Given the description of an element on the screen output the (x, y) to click on. 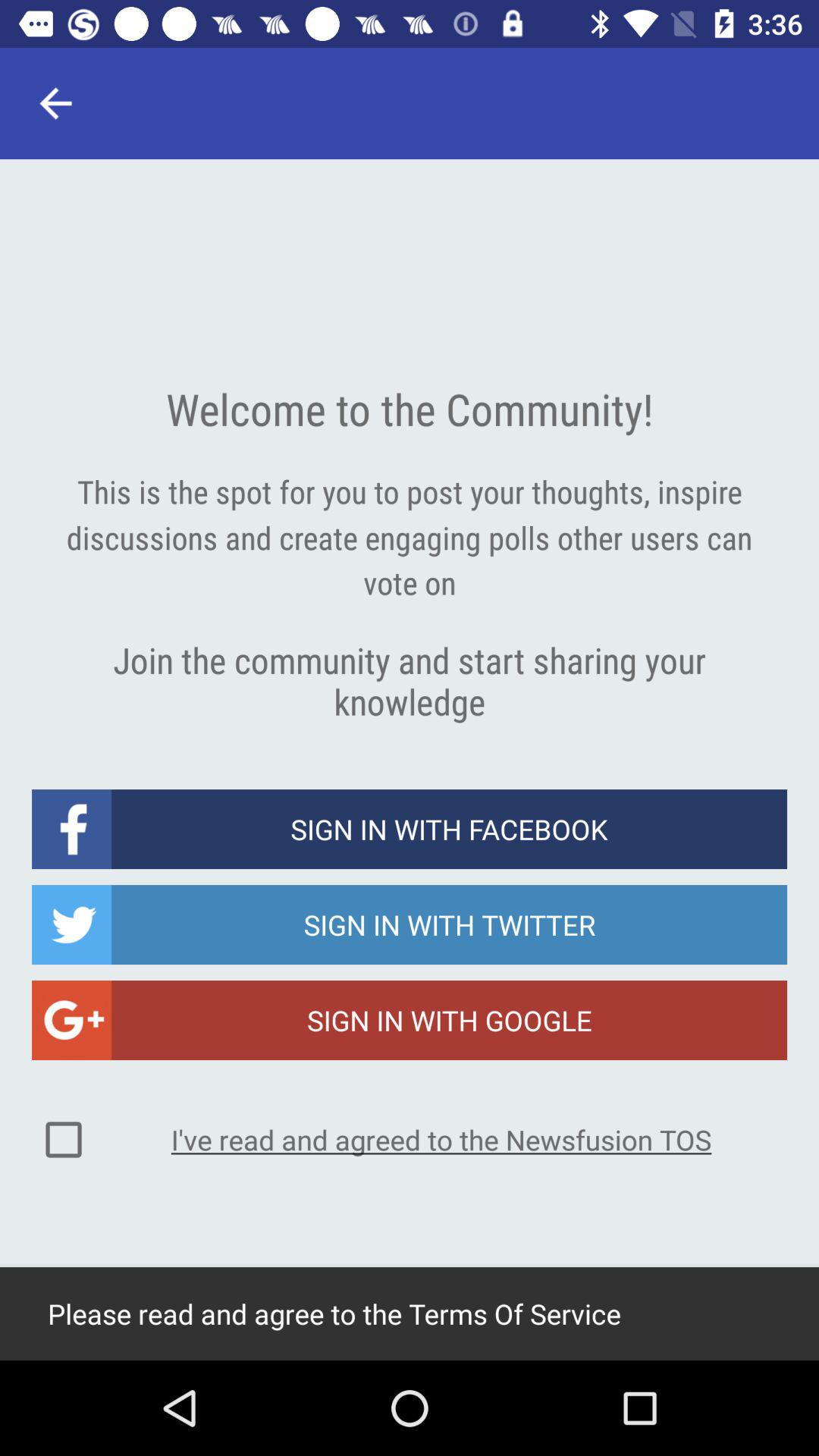
choose icon above the welcome to the (55, 103)
